Given the description of an element on the screen output the (x, y) to click on. 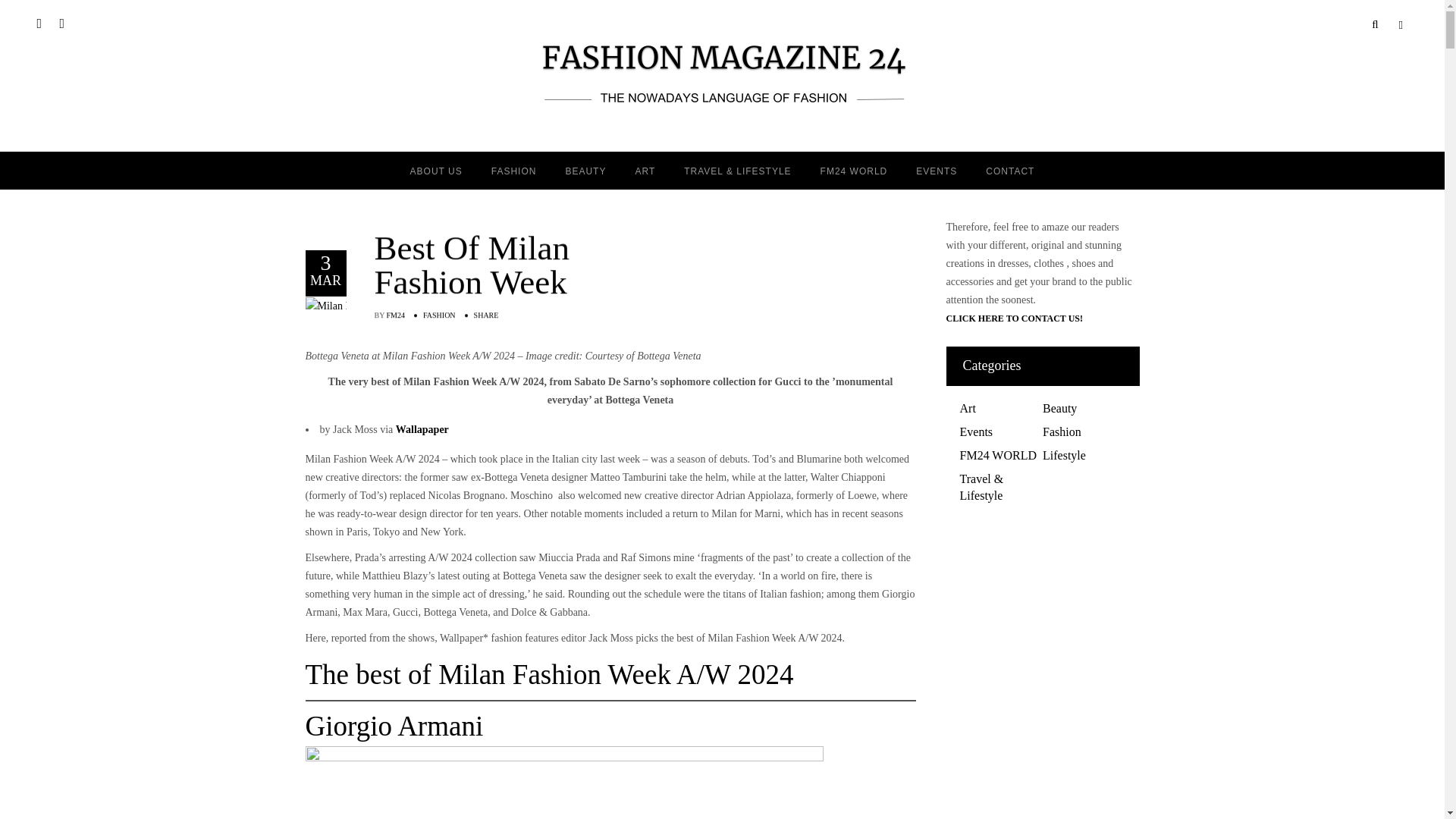
CONTACT (1009, 170)
EVENTS (936, 170)
ABOUT US (436, 170)
FASHION (439, 315)
Wallapaper (422, 429)
FM24 WORLD (854, 170)
Best Of Milan Fashion Week (510, 264)
FASHION (514, 170)
Best of Milan Fashion Week (510, 264)
ART (644, 170)
BEAUTY (585, 170)
Best of Milan Fashion Week (354, 305)
SHARE (486, 315)
FM24 (395, 315)
